Given the description of an element on the screen output the (x, y) to click on. 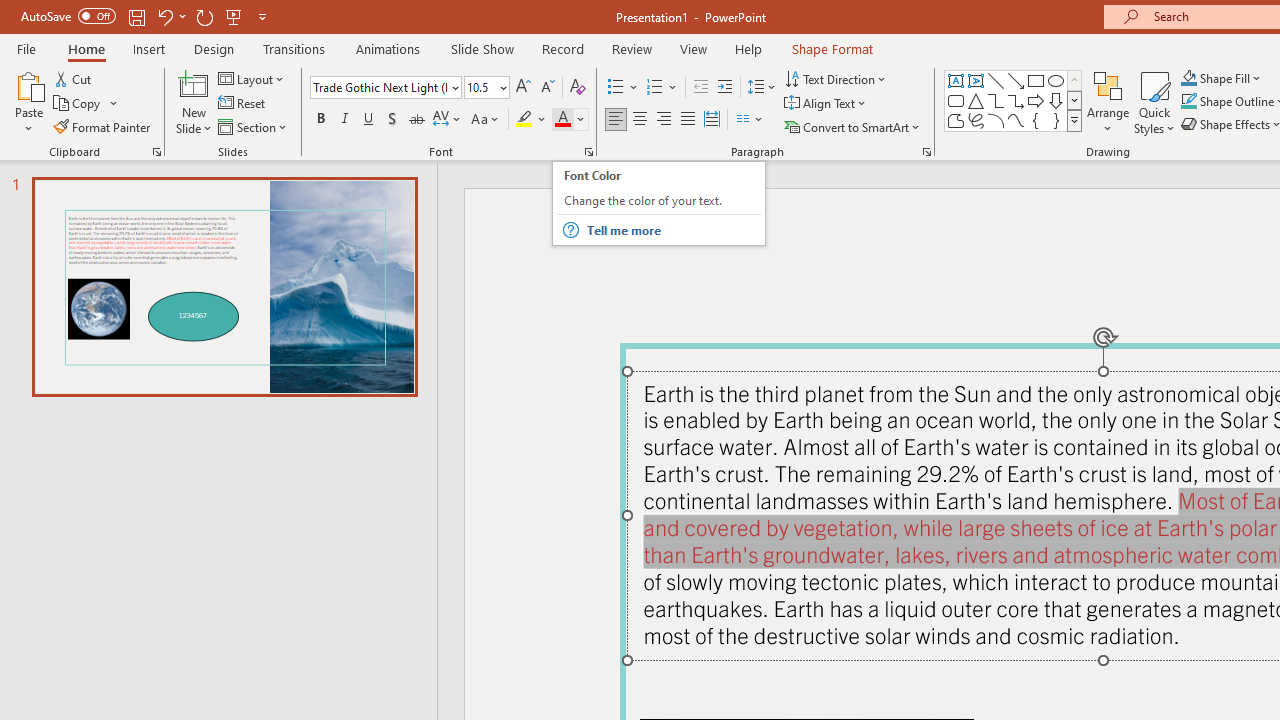
Shape Outline Teal, Accent 1 (1188, 101)
